Given the description of an element on the screen output the (x, y) to click on. 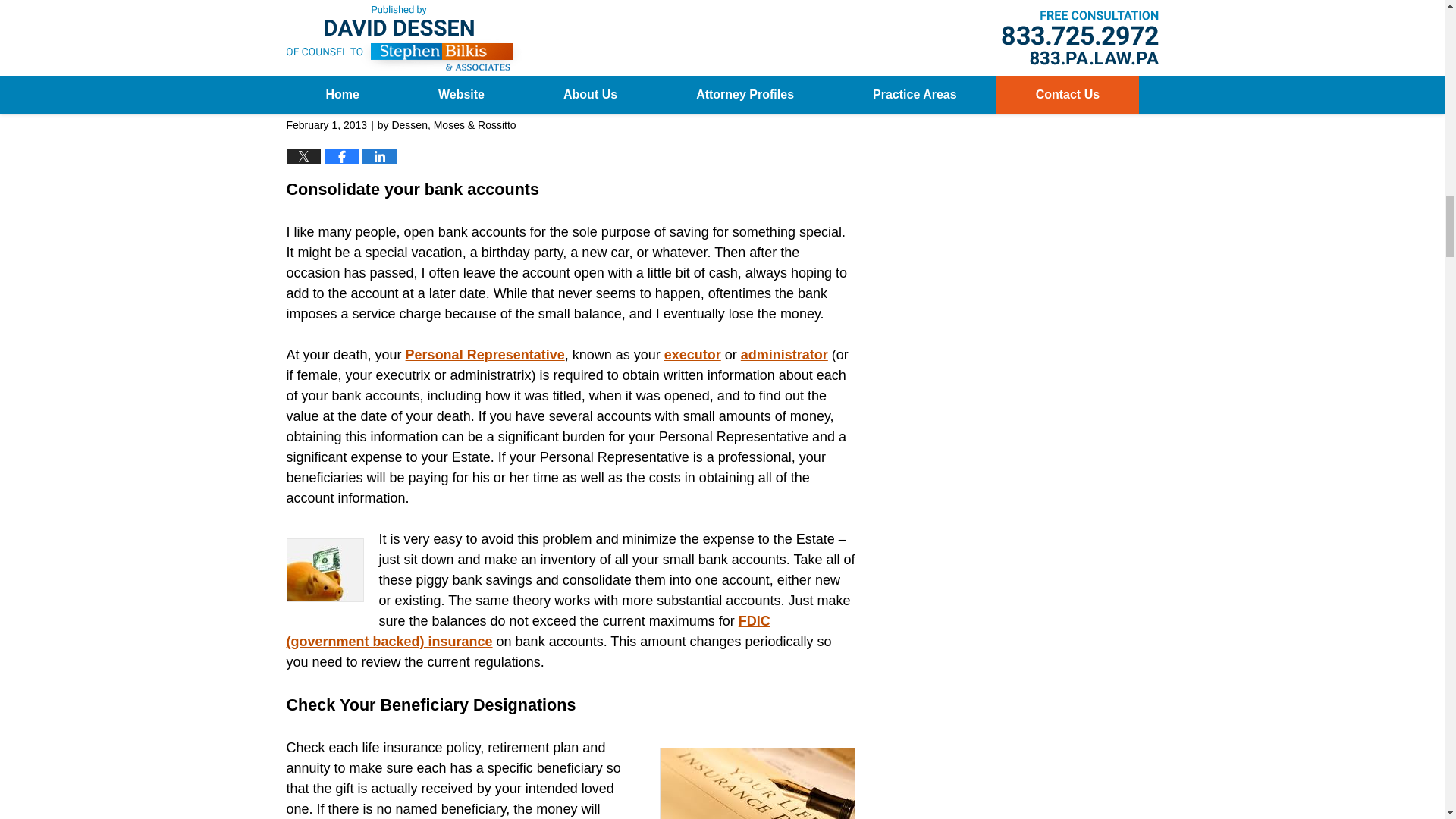
Permalink to Organize Your Assets to Benefit Your Heirs (456, 99)
View all posts tagged with Trusts (454, 17)
View all posts tagged with Disability (350, 17)
View all posts tagged with Minors (397, 17)
View all posts in Estate Planning (376, 3)
